Given the description of an element on the screen output the (x, y) to click on. 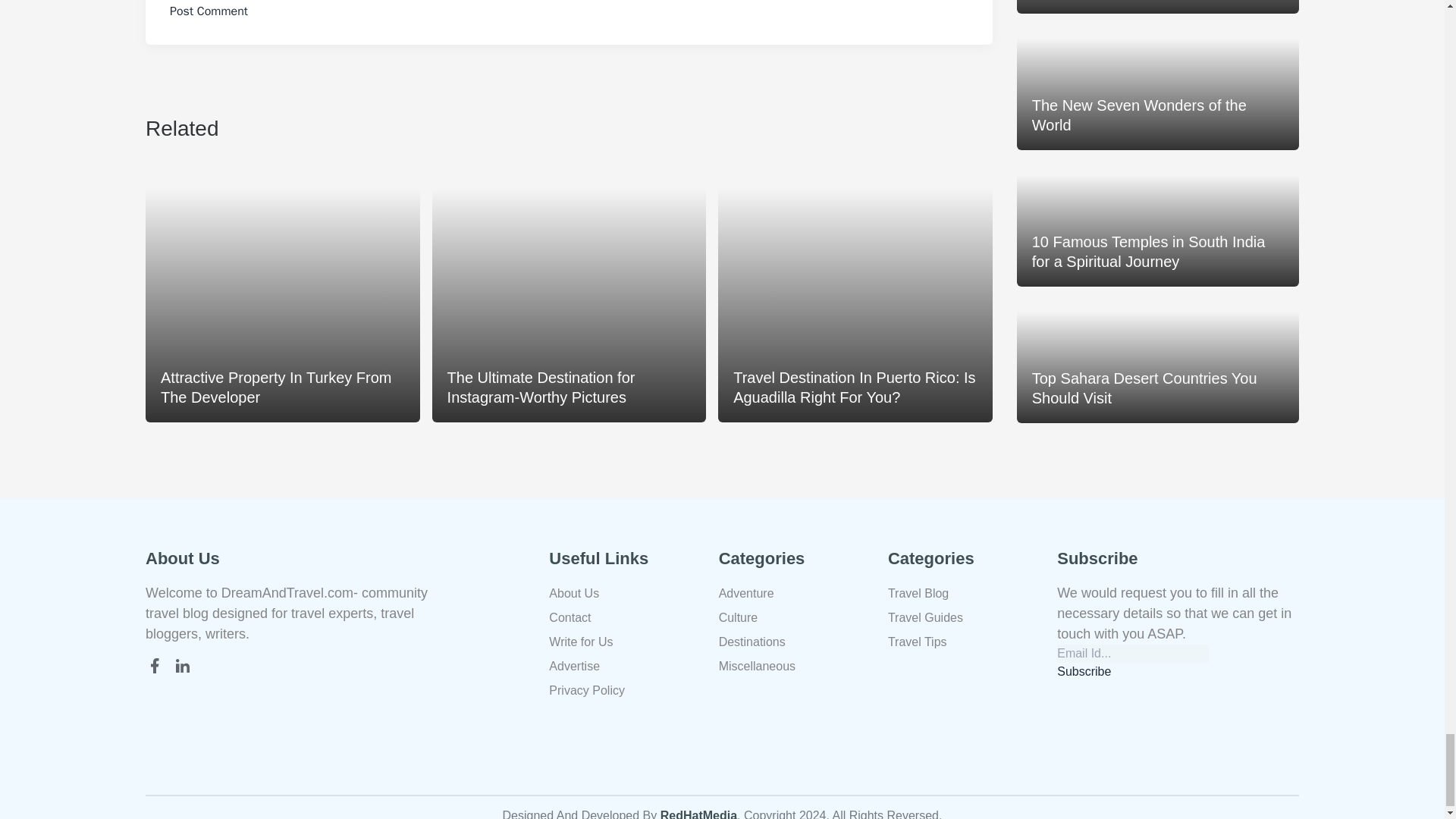
Post Comment (208, 11)
Attractive Property In Turkey From The Developer (282, 294)
The Ultimate Destination for Instagram-Worthy Pictures (569, 294)
Subscribe (1083, 671)
Post Comment (208, 11)
